Given the description of an element on the screen output the (x, y) to click on. 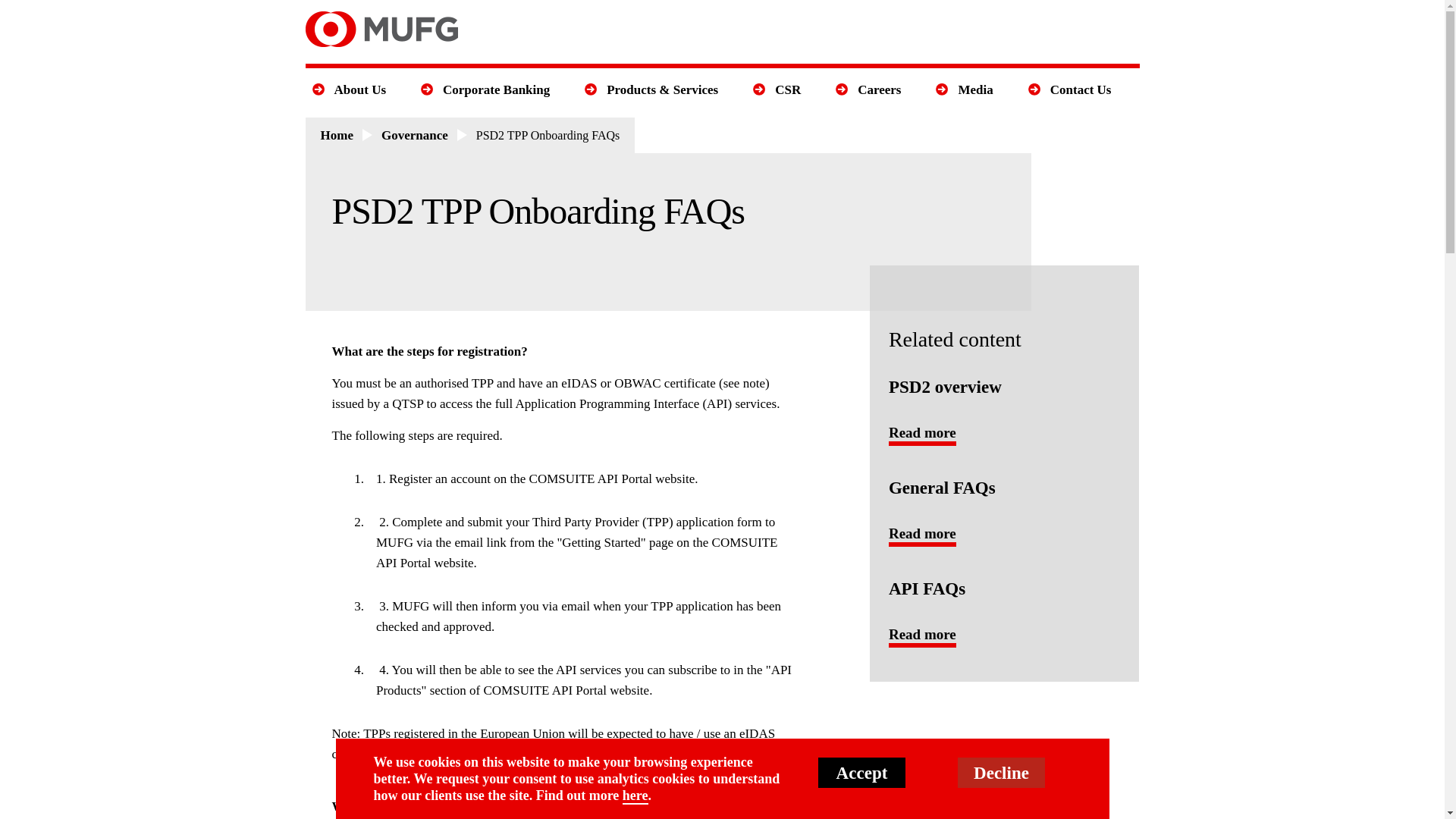
About Us (359, 89)
Mitsubishi UFJ Financial Group, Inc. (380, 28)
CSR (786, 89)
Media (974, 89)
Careers (878, 89)
Corporate Banking (495, 89)
Contact Us (1081, 89)
